Given the description of an element on the screen output the (x, y) to click on. 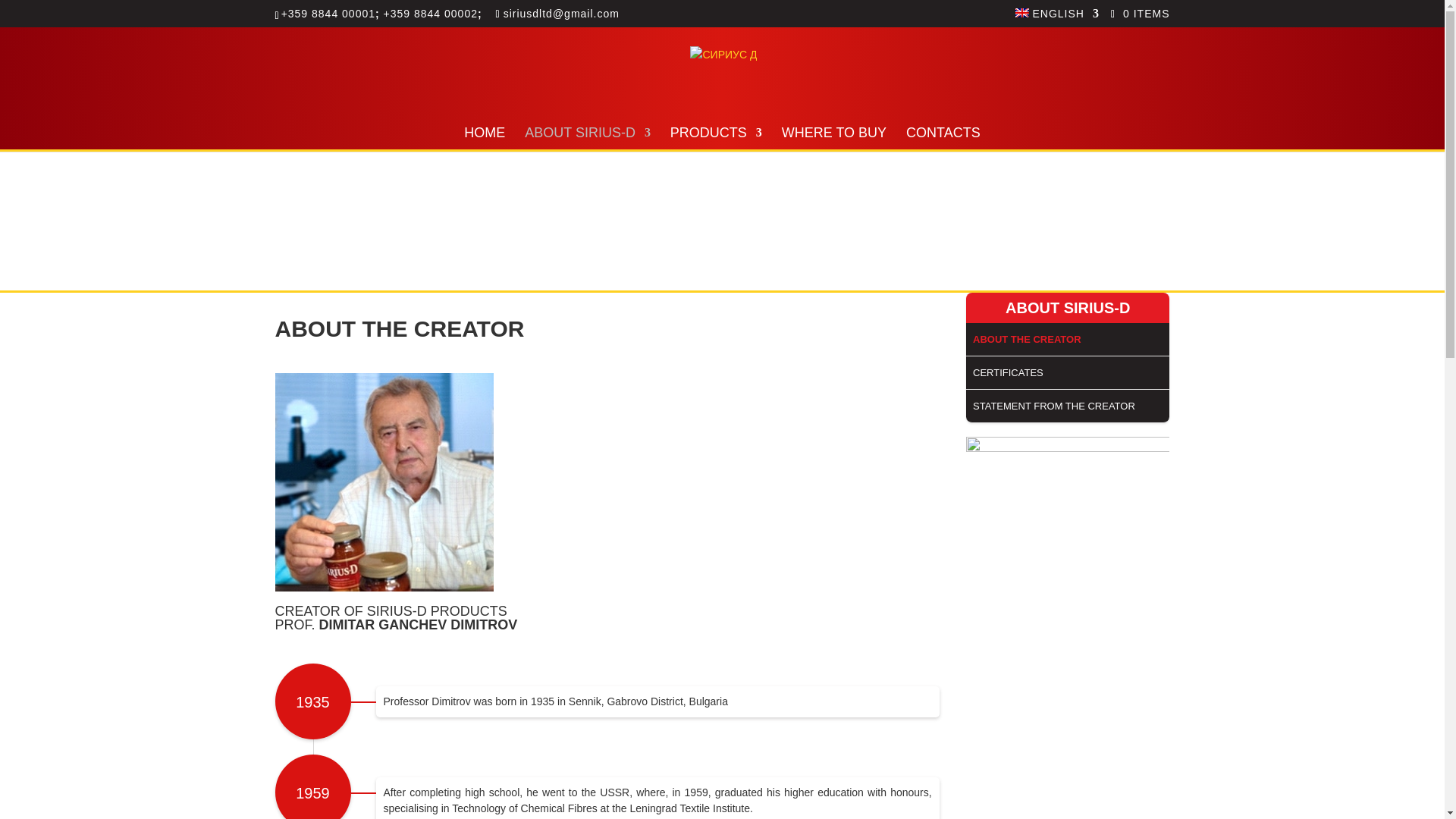
WHERE TO BUY (833, 138)
ABOUT THE CREATOR (1067, 339)
STATEMENT FROM THE CREATOR (1067, 406)
ABOUT SIRIUS-D (587, 138)
ENGLISH (1056, 16)
CONTACTS (942, 138)
0 ITEMS (1140, 12)
English (1056, 16)
CERTIFICATES (1067, 372)
HOME (484, 138)
